Given the description of an element on the screen output the (x, y) to click on. 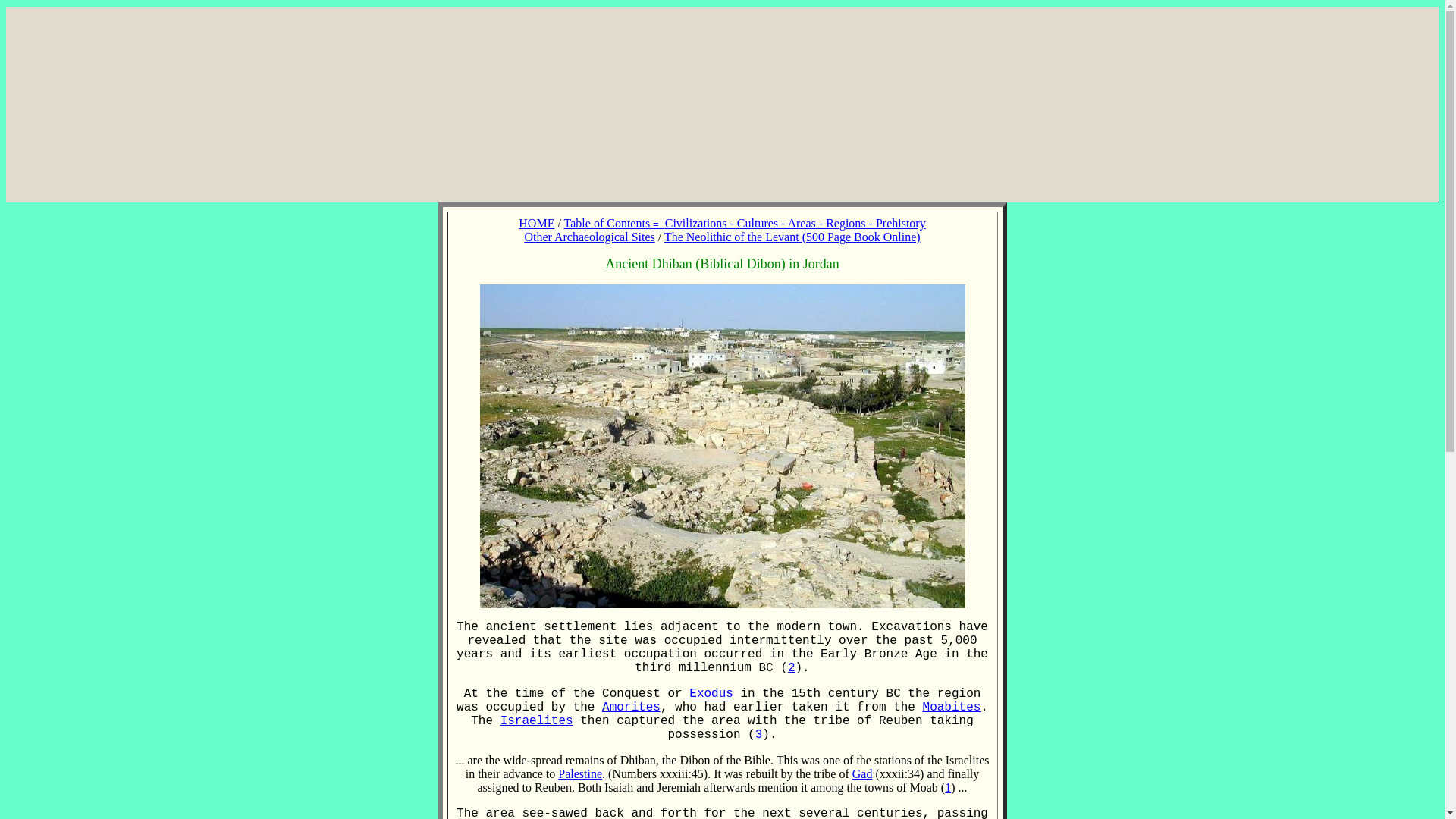
Amorites (631, 707)
Israelites (536, 721)
3 (758, 735)
Gad (861, 773)
Exodus (710, 694)
1 (947, 787)
Moabites (952, 707)
HOME (536, 223)
Palestine (579, 773)
2 (790, 667)
Other Archaeological Sites (588, 236)
